Given the description of an element on the screen output the (x, y) to click on. 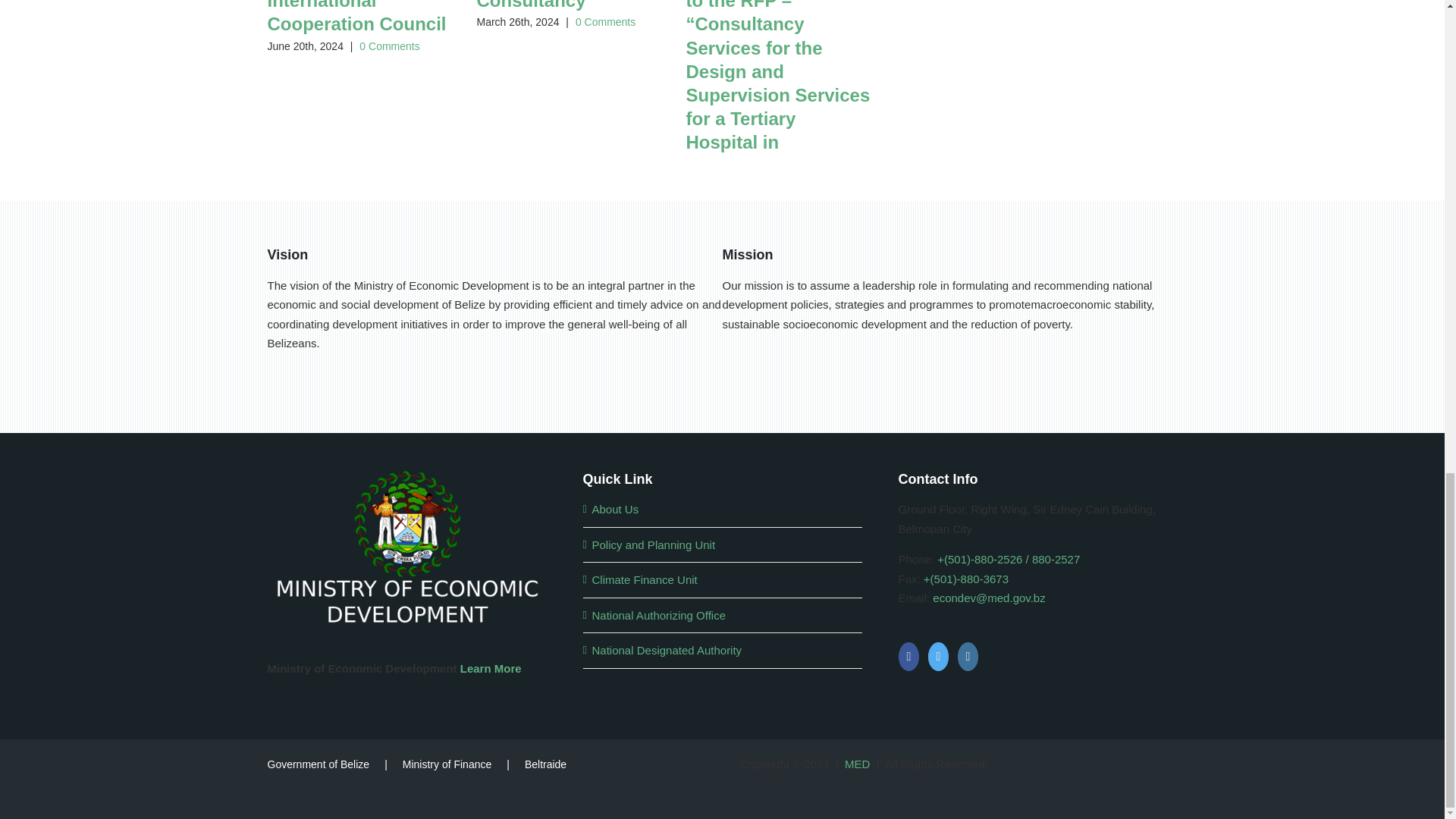
Short-Term Consultancy (530, 5)
Meeting with the International Cooperation Council (355, 17)
